Given the description of an element on the screen output the (x, y) to click on. 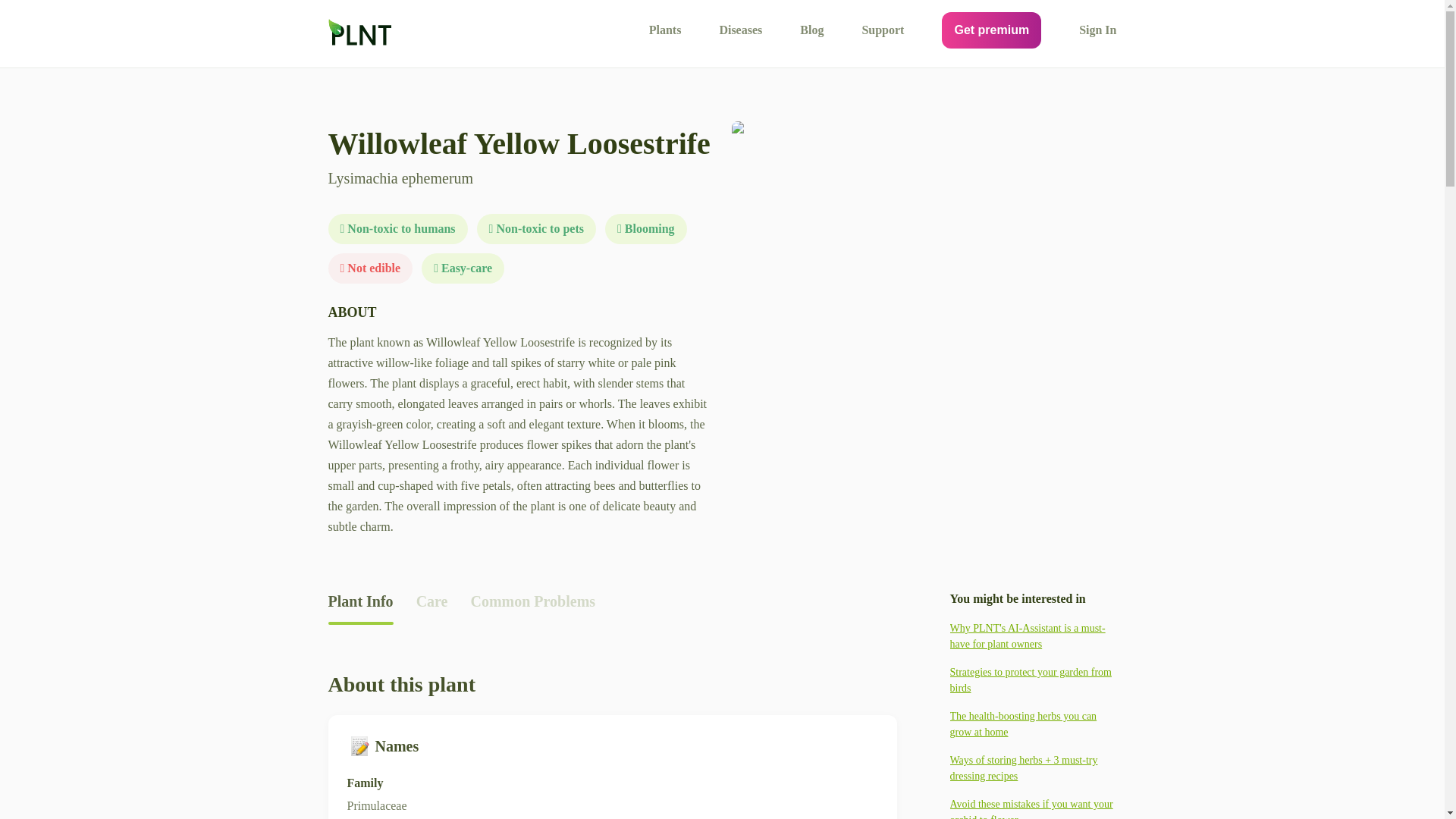
Plants (665, 30)
Support (882, 30)
Diseases (740, 30)
Get premium (991, 30)
The health-boosting herbs you can grow at home (1032, 724)
Avoid these mistakes if you want your orchid to flower (1032, 807)
Sign In (1097, 30)
Strategies to protect your garden from birds (1032, 680)
Blog (811, 30)
Why PLNT's AI-Assistant is a must-have for plant owners (1032, 635)
